Given the description of an element on the screen output the (x, y) to click on. 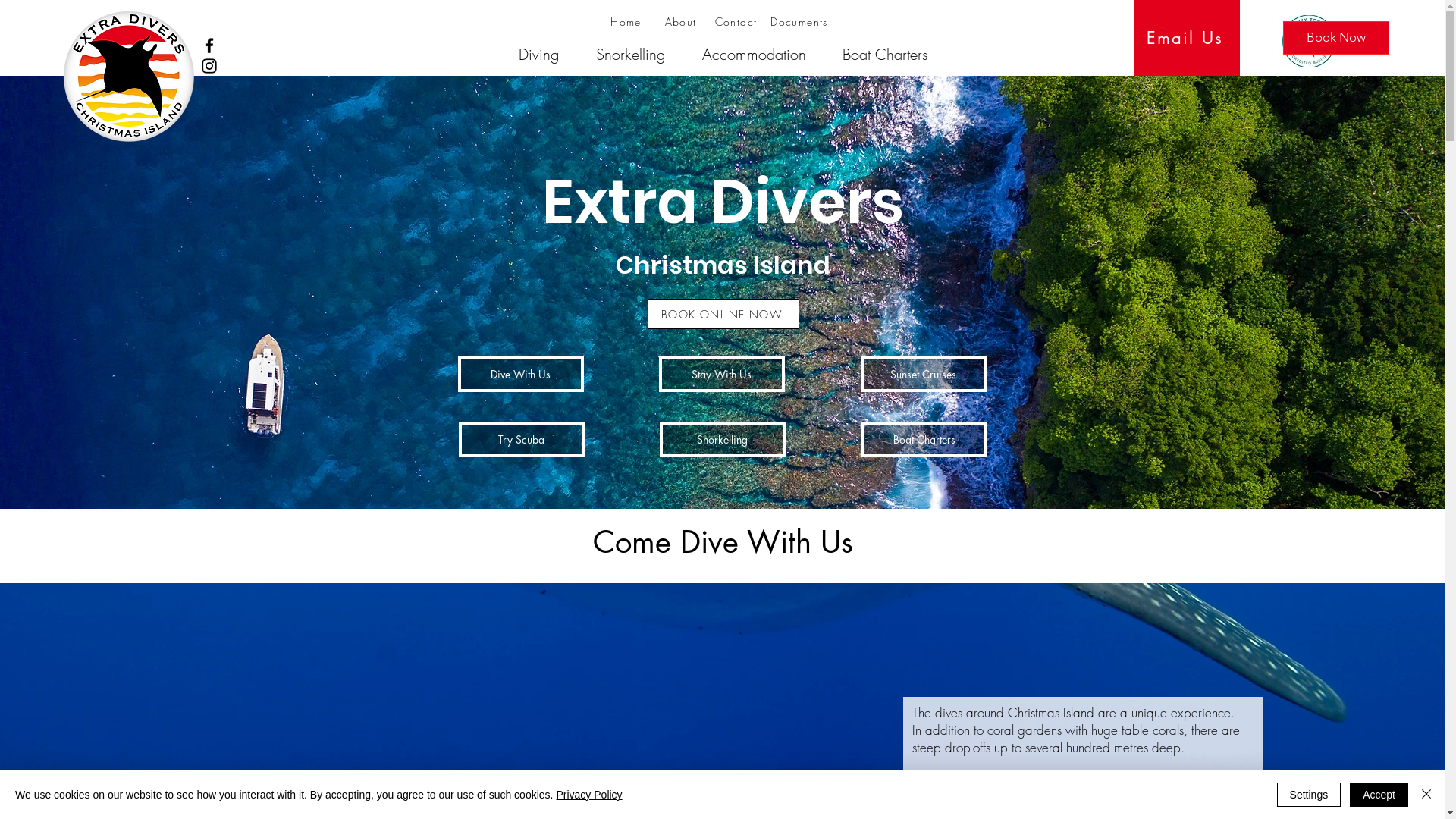
Privacy Policy Element type: text (588, 794)
Documents Element type: text (799, 20)
Home Element type: text (627, 20)
Email Us Element type: text (1185, 37)
BOOK ONLINE NOW Element type: text (723, 313)
Boat Charters Element type: text (884, 54)
Boat Charters Element type: text (924, 439)
Sunset Cruises Element type: text (922, 374)
Stay With Us Element type: text (721, 374)
Snorkelling Element type: text (722, 439)
Book Now Element type: text (1336, 37)
Dive With Us Element type: text (520, 374)
Accept Element type: text (1378, 794)
Snorkelling Element type: text (629, 54)
Contact Element type: text (736, 20)
Settings Element type: text (1309, 794)
Accommodation Element type: text (752, 54)
About Element type: text (682, 20)
Try Scuba Element type: text (520, 439)
Diving Element type: text (538, 54)
